Given the description of an element on the screen output the (x, y) to click on. 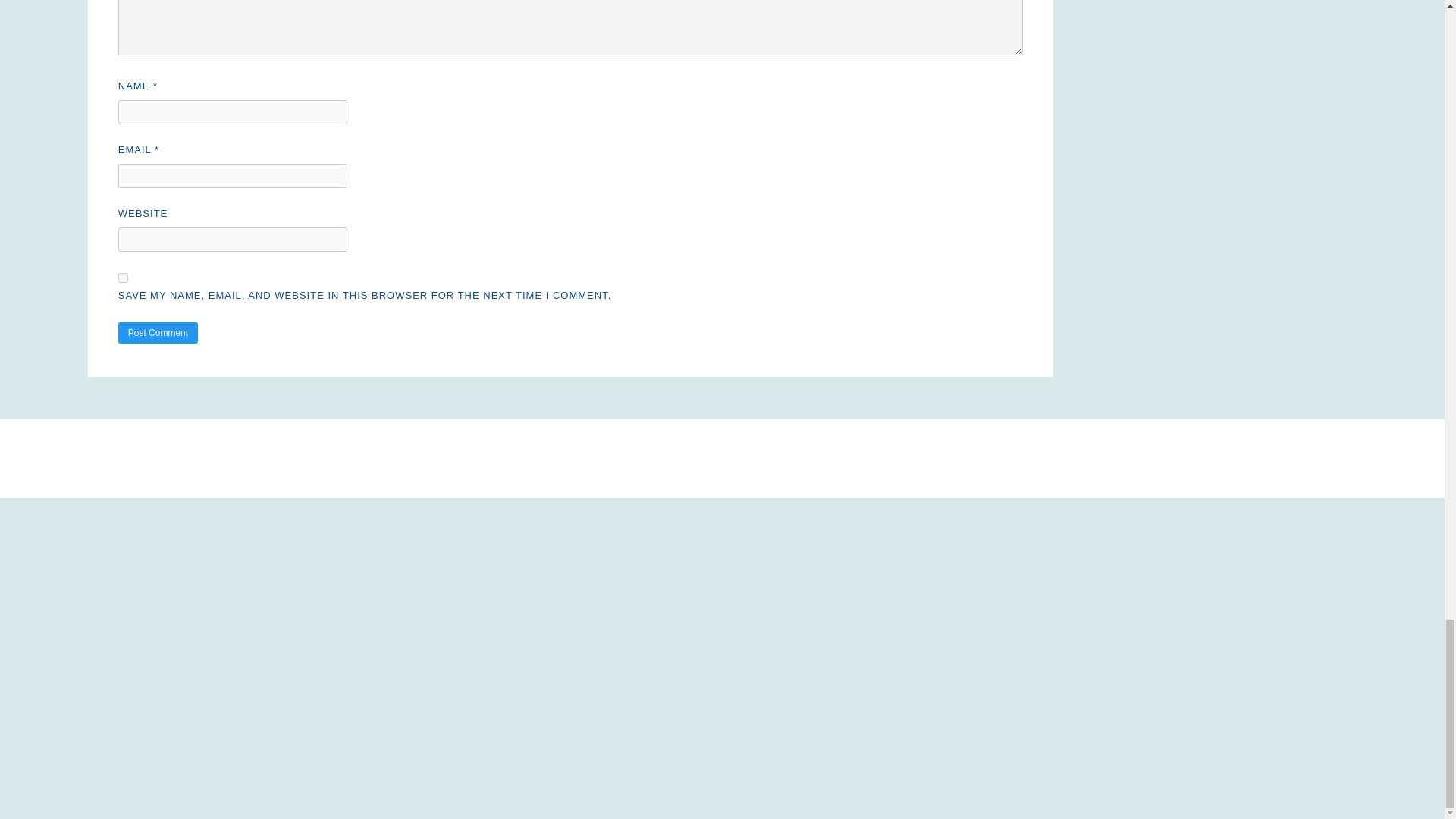
Post Comment (157, 332)
yes (122, 277)
